Given the description of an element on the screen output the (x, y) to click on. 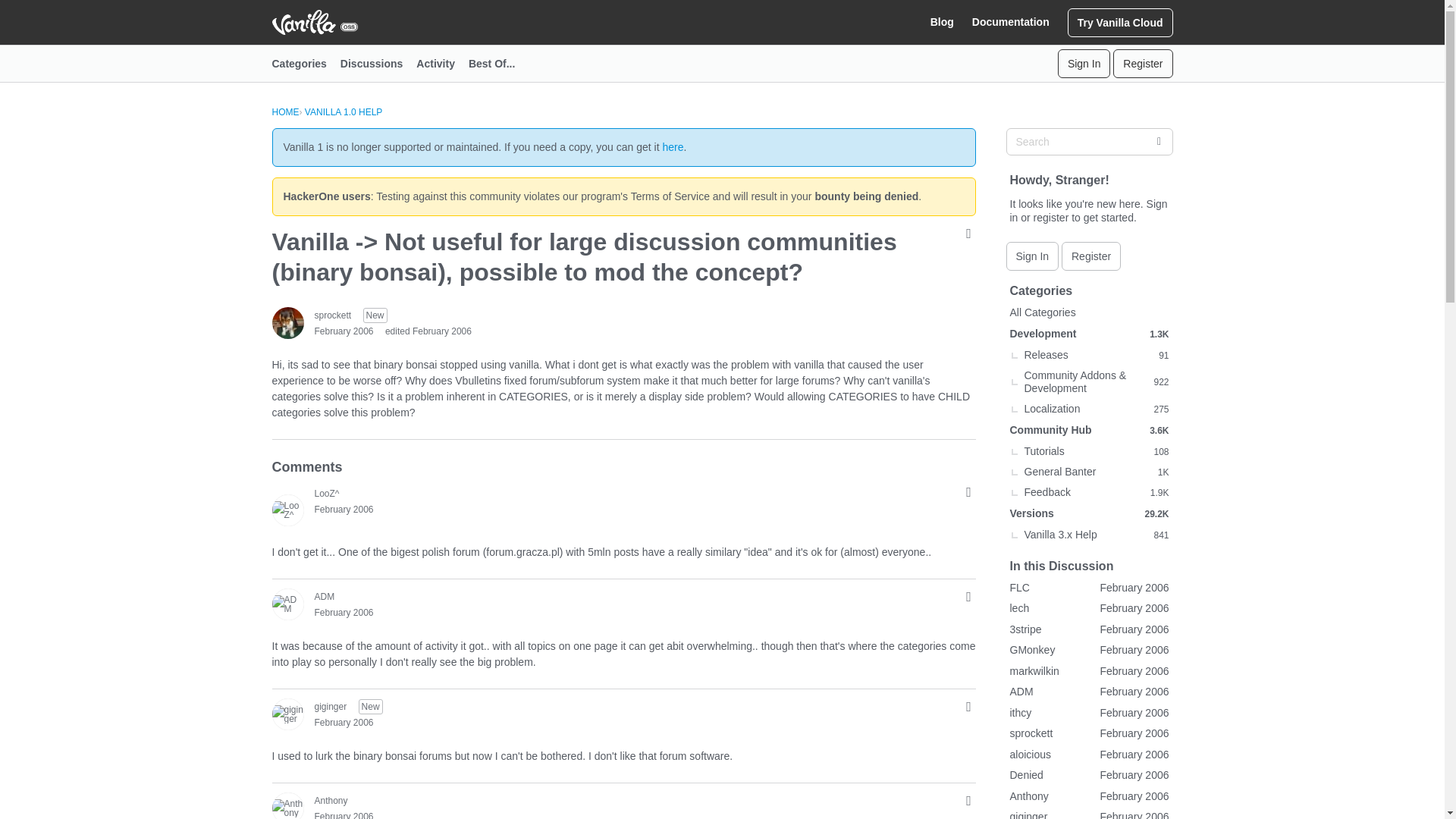
HOME (284, 112)
Go (1158, 141)
February 2006 (343, 509)
Activity (442, 63)
February 23, 2006 1:35PM (343, 722)
February 23, 2006 11:54AM (343, 330)
Edited February 25, 2006 1:27AM by FLC. (428, 330)
Documentation (1011, 22)
Blog (942, 22)
ADM (324, 596)
New (370, 706)
VANILLA 1.0 HELP (343, 112)
giginger (286, 714)
February 2006 (343, 612)
Best Of... (498, 63)
